Given the description of an element on the screen output the (x, y) to click on. 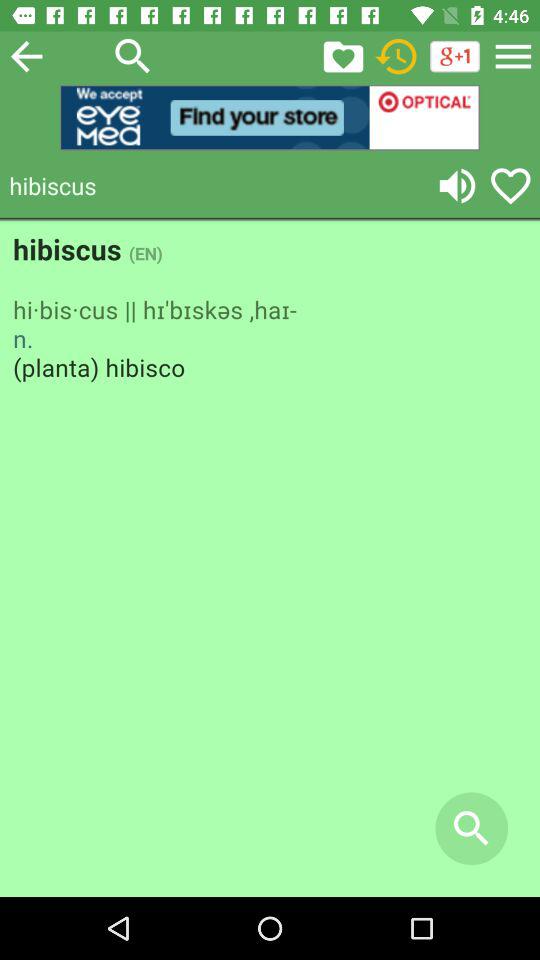
go to reload option (396, 56)
